Given the description of an element on the screen output the (x, y) to click on. 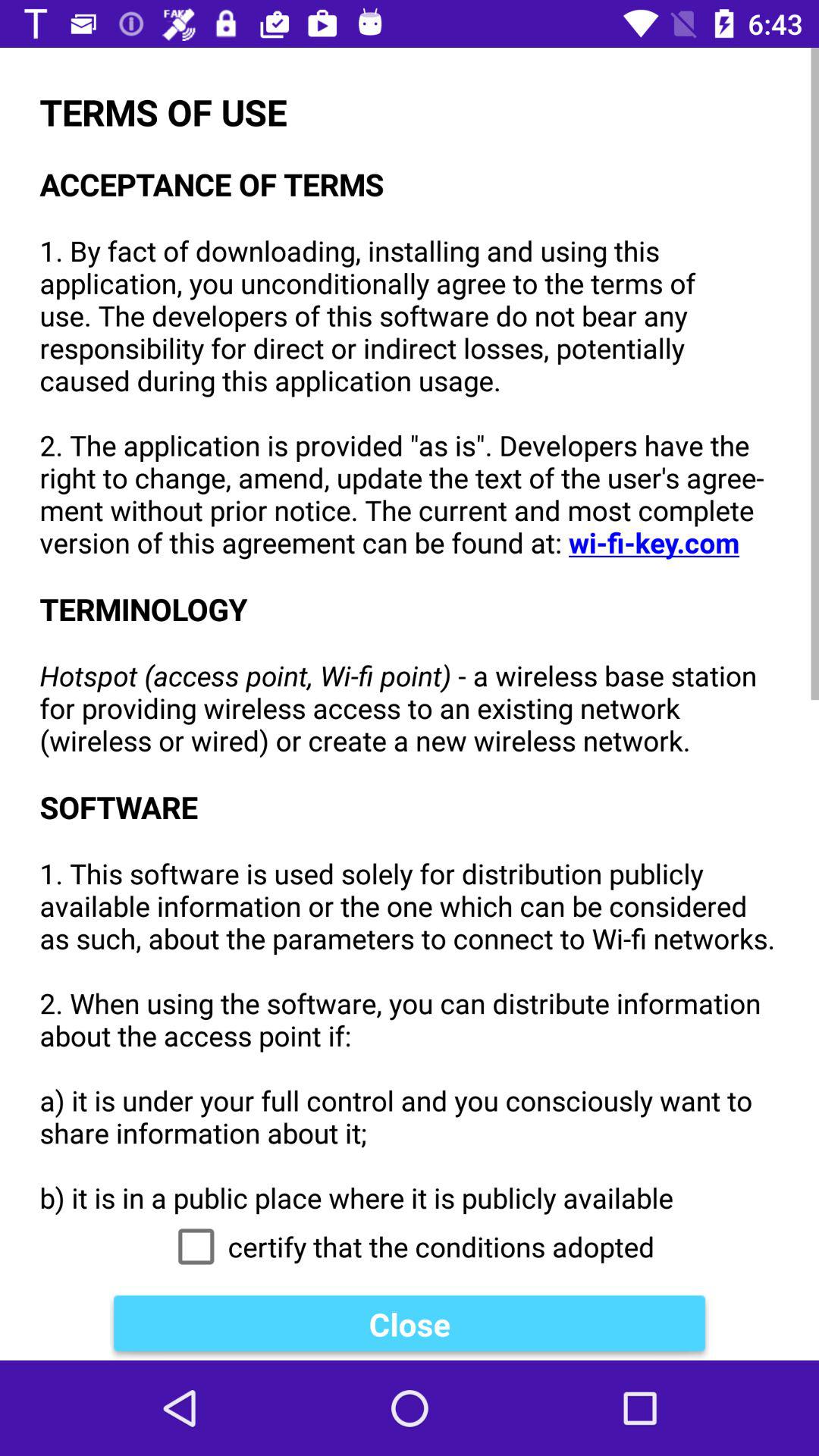
turn off icon below the terms of use icon (409, 1246)
